Given the description of an element on the screen output the (x, y) to click on. 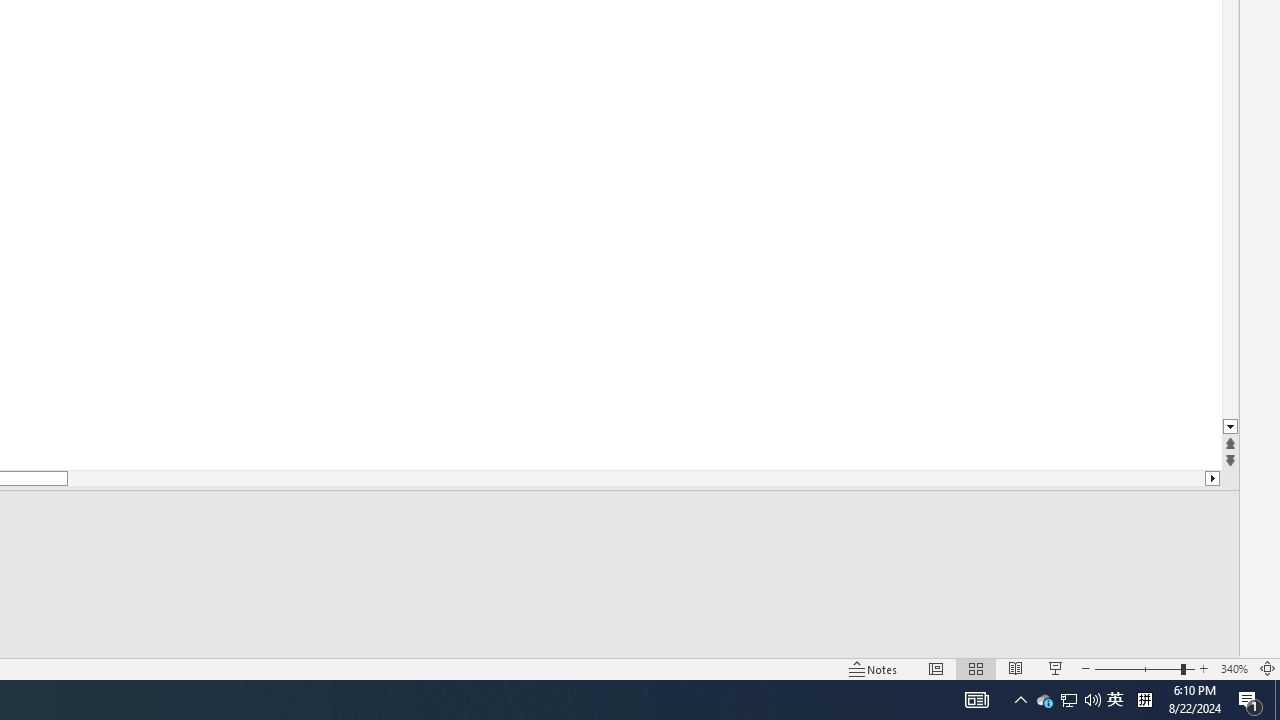
Zoom 340% (1234, 668)
